Given the description of an element on the screen output the (x, y) to click on. 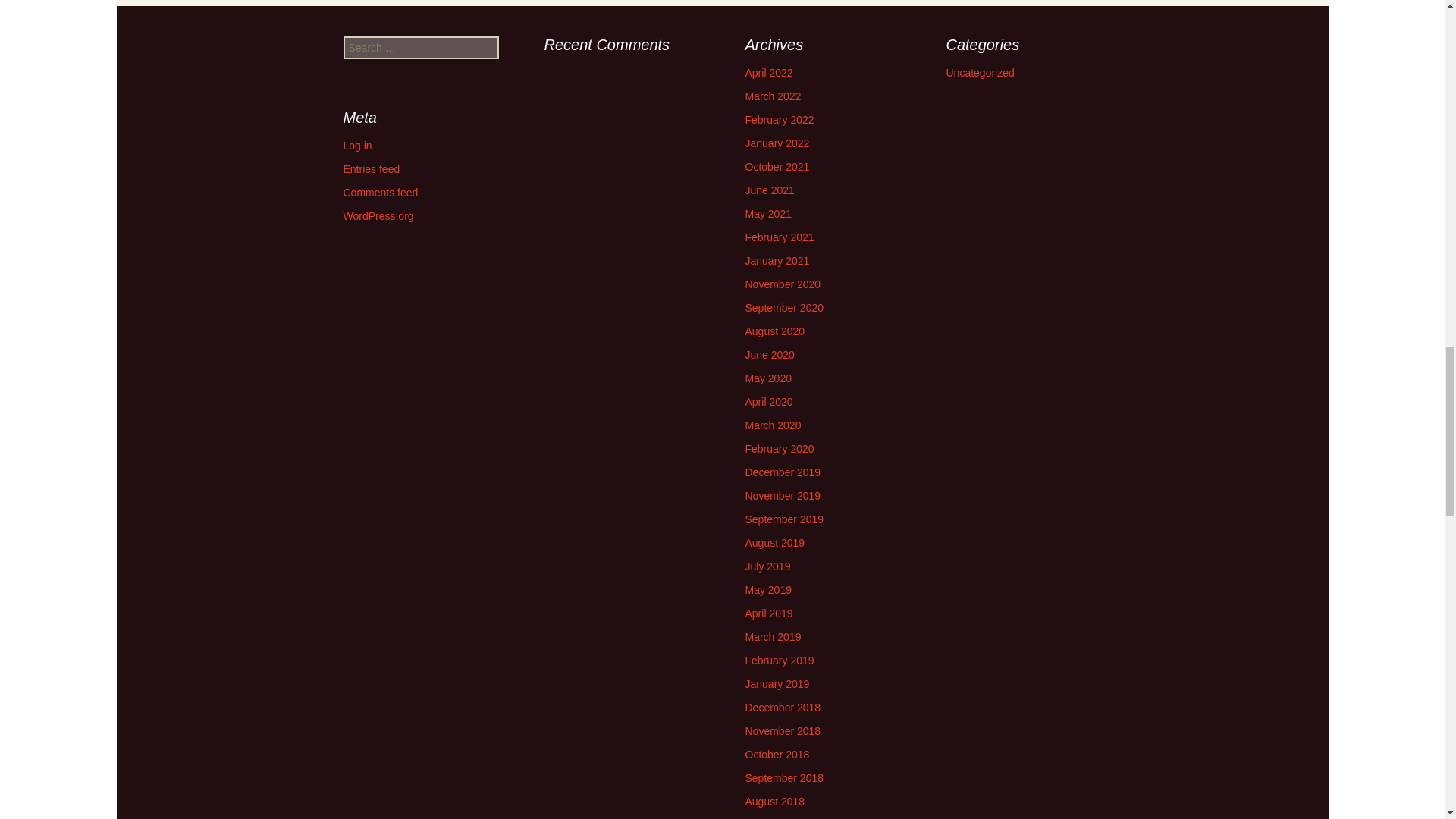
April 2019 (768, 613)
May 2020 (767, 378)
August 2020 (774, 331)
July 2019 (767, 566)
November 2019 (782, 495)
January 2021 (776, 260)
December 2019 (782, 472)
February 2020 (778, 449)
September 2019 (784, 519)
April 2020 (768, 401)
February 2022 (778, 119)
March 2022 (772, 96)
August 2019 (774, 542)
May 2019 (767, 589)
June 2021 (768, 190)
